Given the description of an element on the screen output the (x, y) to click on. 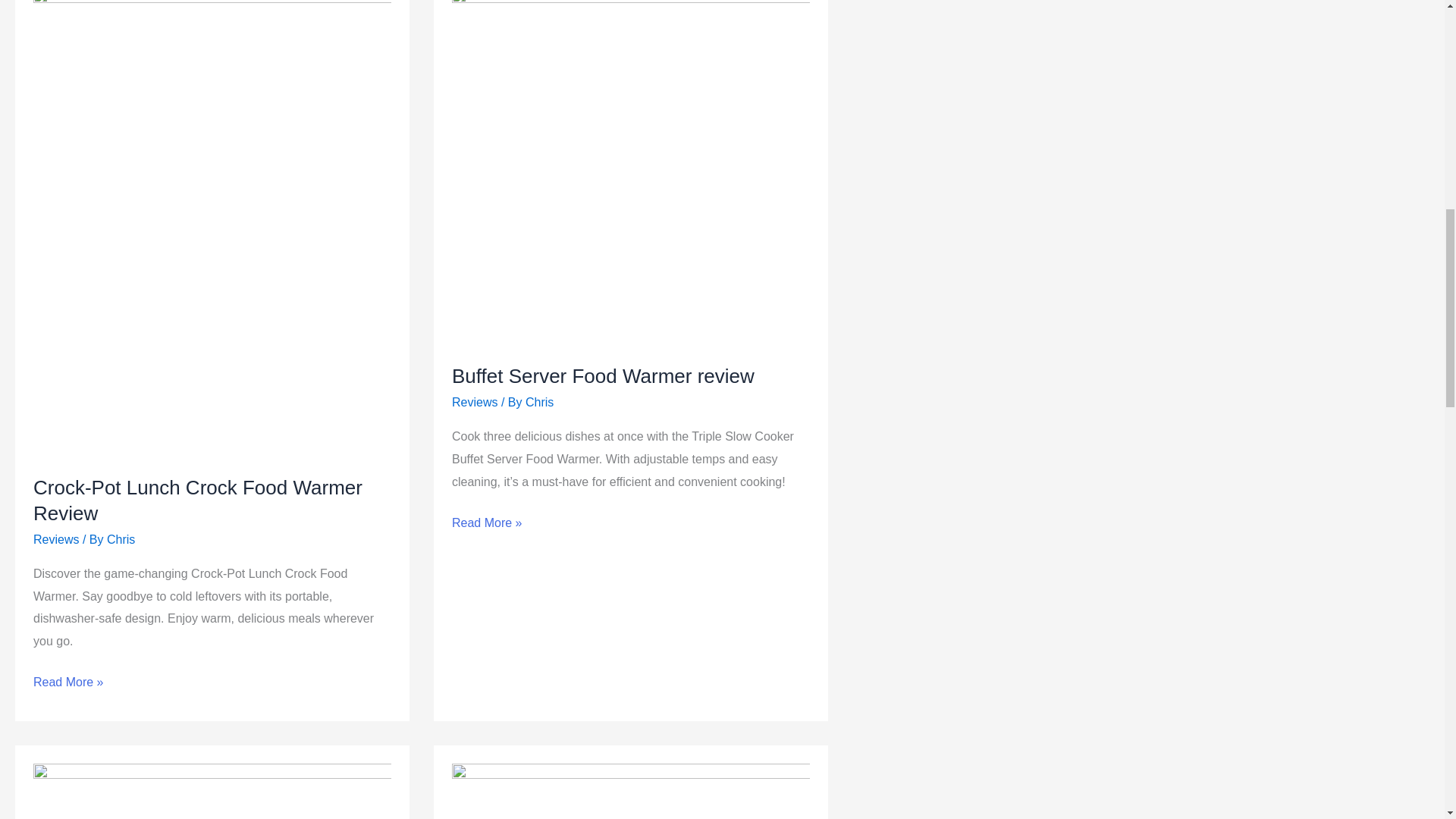
View all posts by Chris (539, 401)
Reviews (55, 539)
View all posts by Chris (120, 539)
Chris (539, 401)
Buffet Server Food Warmer review (602, 375)
Reviews (474, 401)
Chris (120, 539)
Crock-Pot Lunch Crock Food Warmer Review (197, 499)
